Given the description of an element on the screen output the (x, y) to click on. 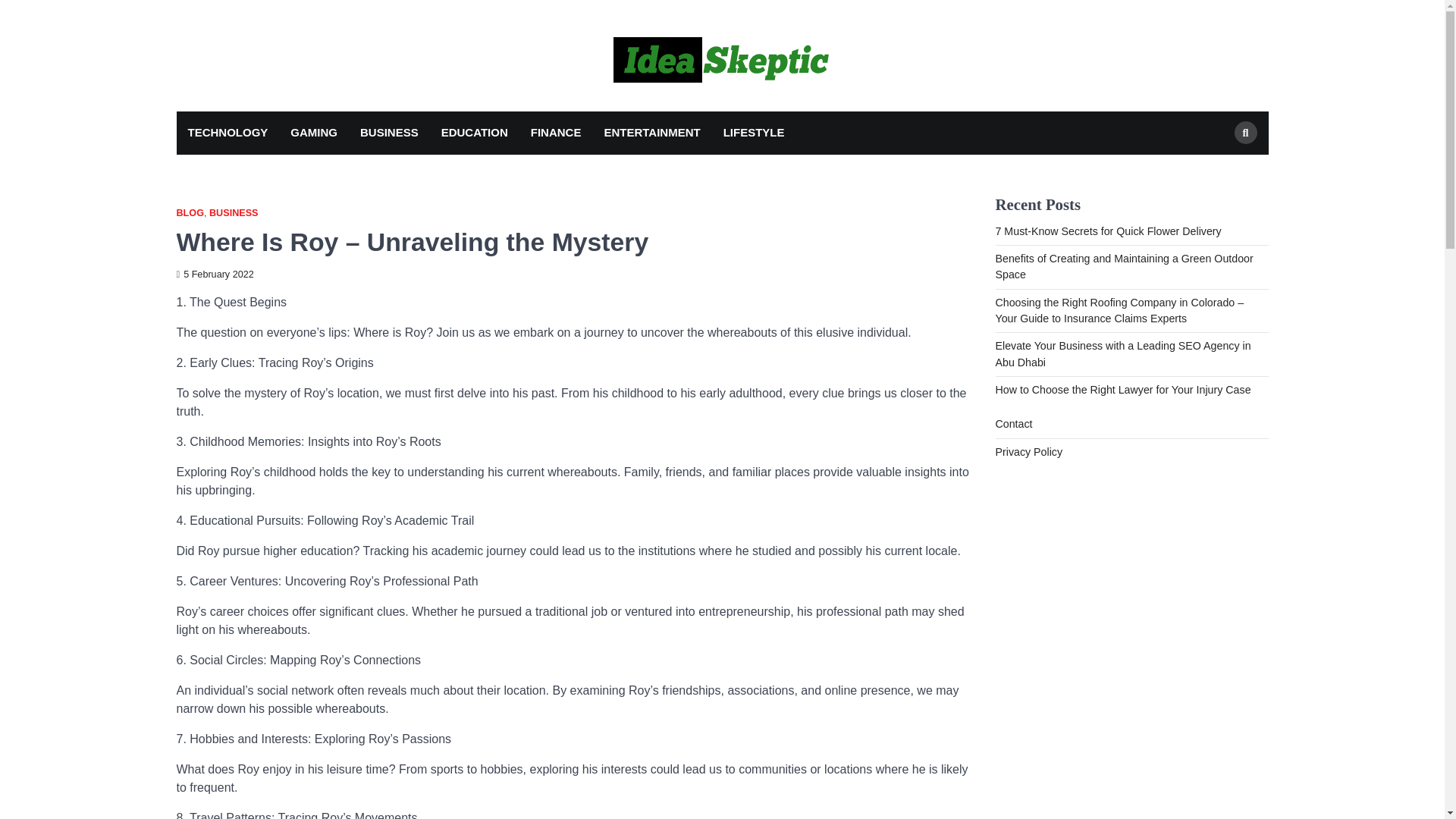
How to Choose the Right Lawyer for Your Injury Case (1122, 389)
BUSINESS (389, 132)
Search (1217, 167)
5 February 2022 (214, 274)
EDUCATION (474, 132)
Privacy Policy (1028, 451)
7 Must-Know Secrets for Quick Flower Delivery (1107, 231)
Elevate Your Business with a Leading SEO Agency in Abu Dhabi (1122, 353)
TECHNOLOGY (227, 132)
LIFESTYLE (753, 132)
BUSINESS (234, 213)
Benefits of Creating and Maintaining a Green Outdoor Space (1123, 266)
FINANCE (555, 132)
BLOG (189, 213)
Search (1245, 132)
